Given the description of an element on the screen output the (x, y) to click on. 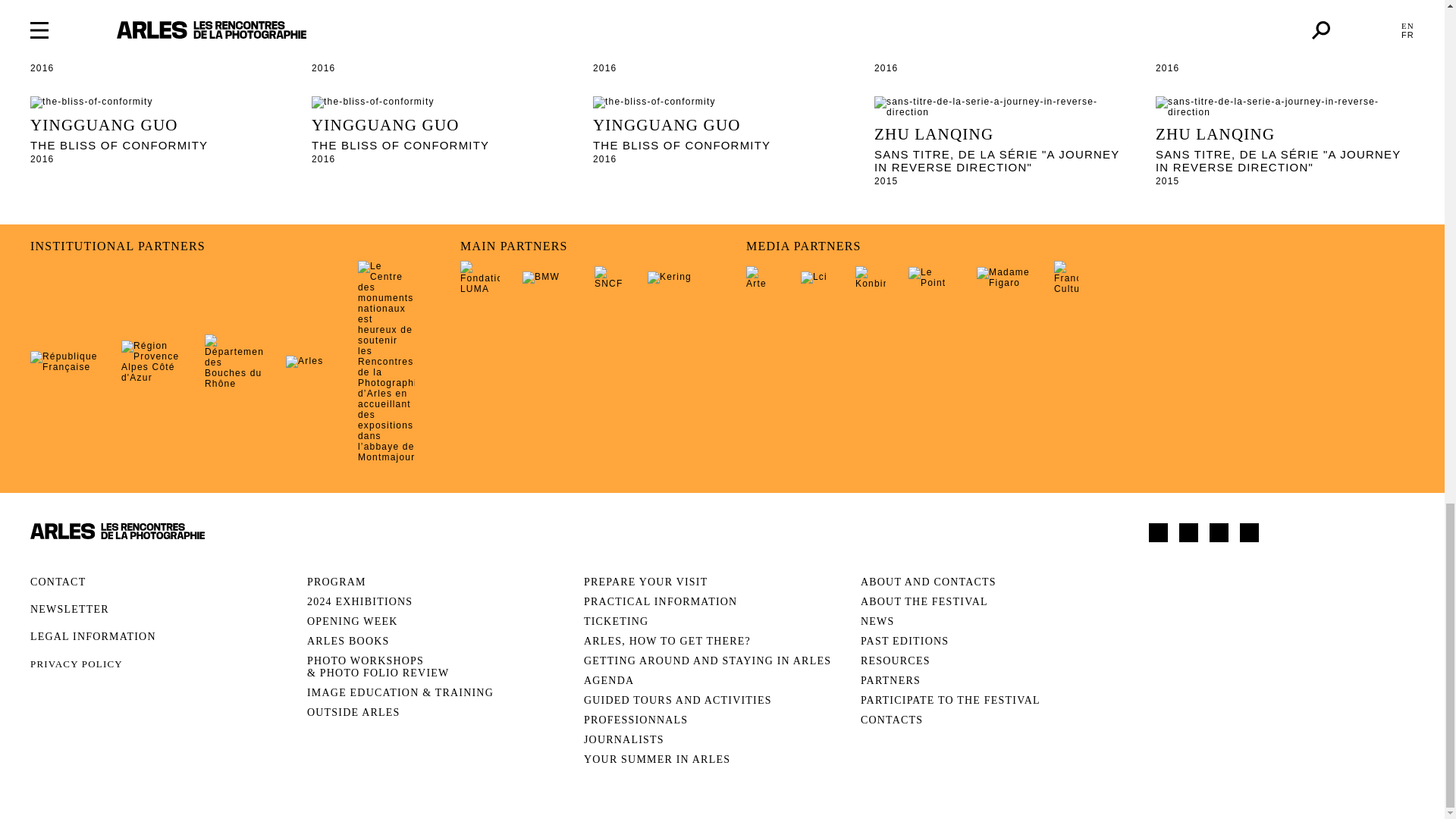
Konbini (870, 277)
SNCF (609, 277)
Kering (673, 277)
Arte (761, 277)
BMW (547, 277)
Lci (816, 277)
Fondation LUMA (479, 277)
Le Point (930, 277)
Madame Figaro (1003, 277)
Arles (309, 361)
